Given the description of an element on the screen output the (x, y) to click on. 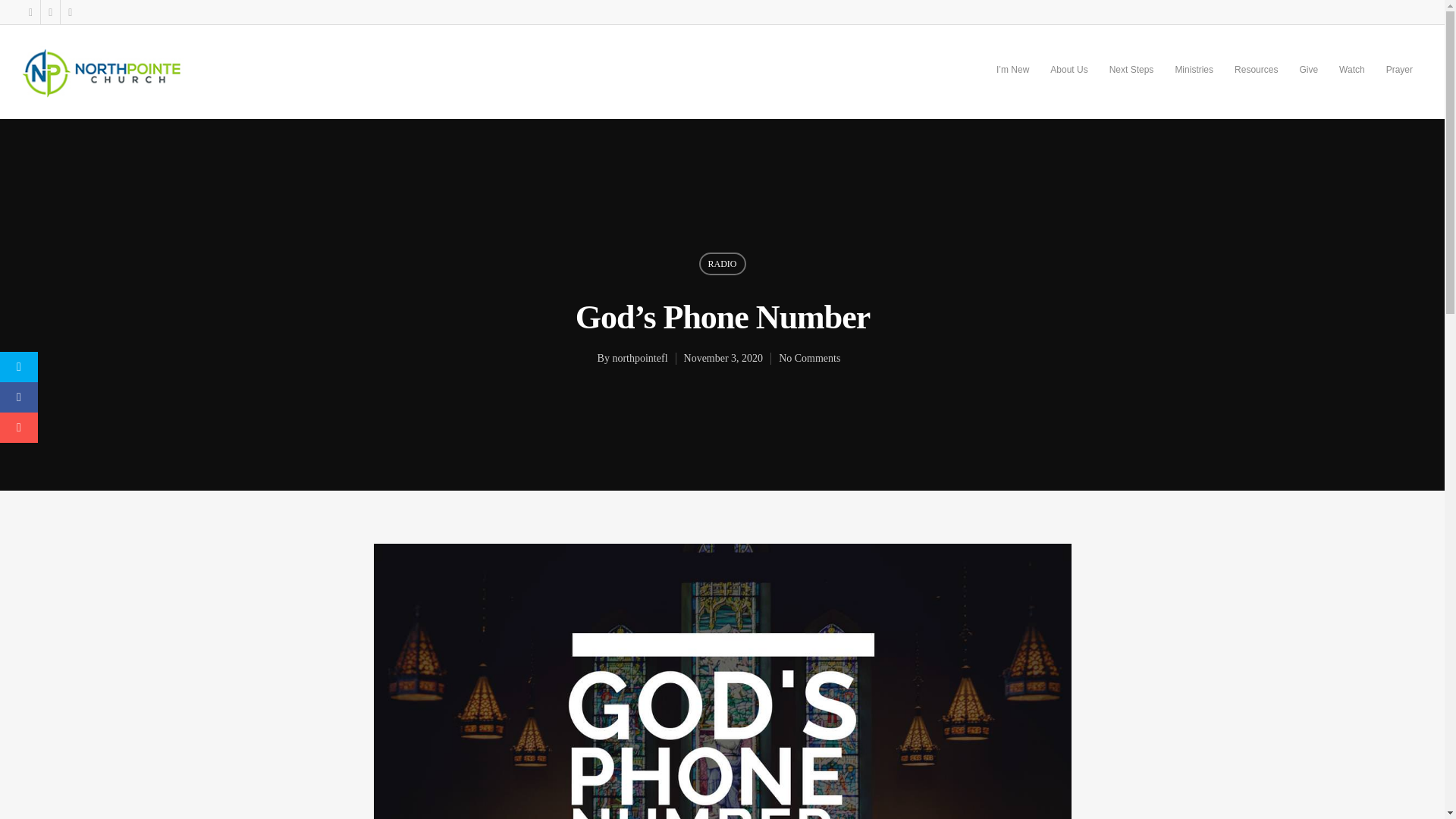
Next Steps (1131, 80)
Posts by northpointefl (638, 357)
Resources (1255, 80)
